Given the description of an element on the screen output the (x, y) to click on. 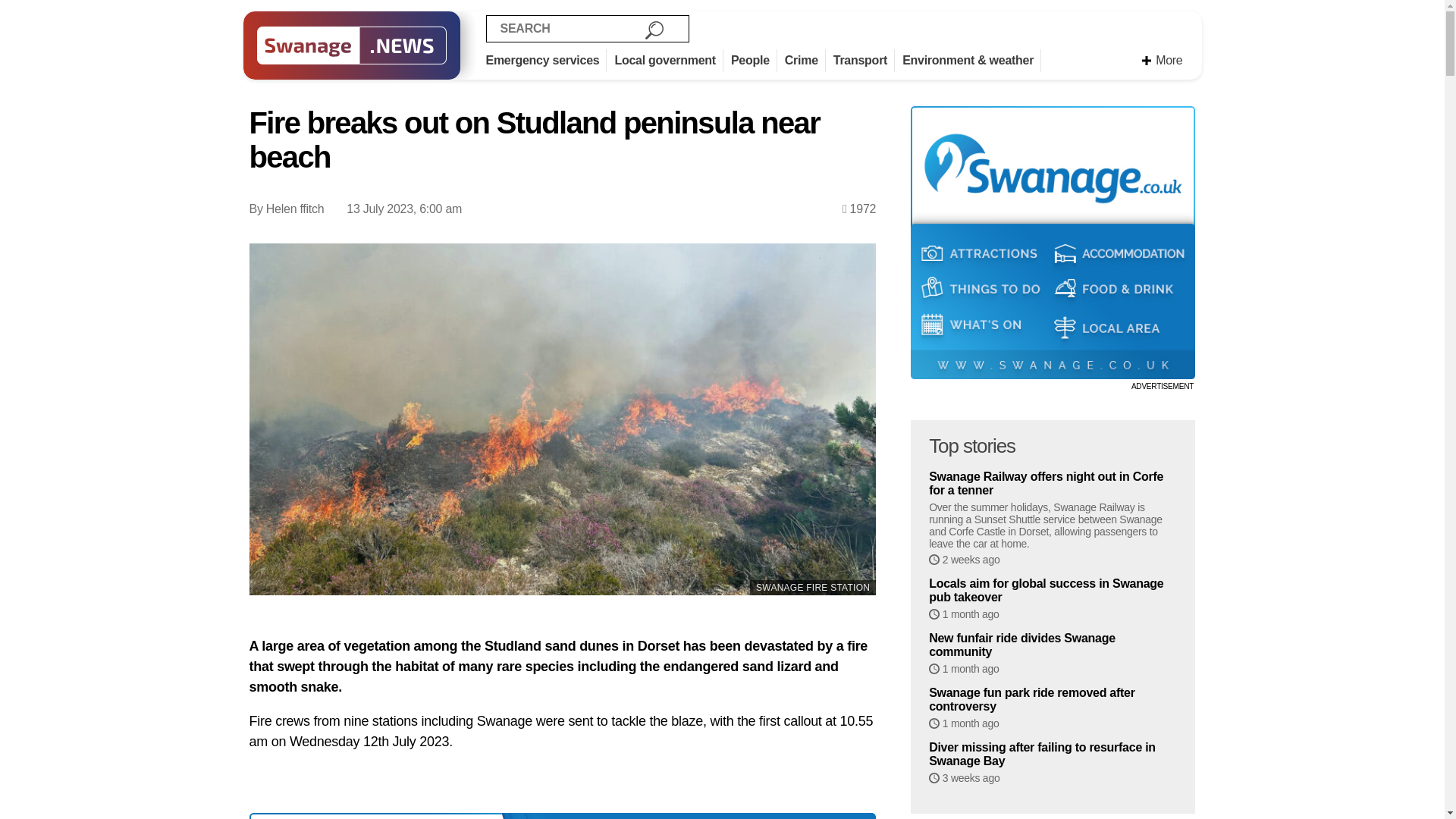
Local government (668, 60)
Crime (804, 60)
Emergency services (545, 60)
Locals aim for global success in Swanage pub takeover (1052, 590)
Transport (863, 60)
Swanage Railway offers night out in Corfe for a tenner (1052, 483)
People (753, 60)
